Given the description of an element on the screen output the (x, y) to click on. 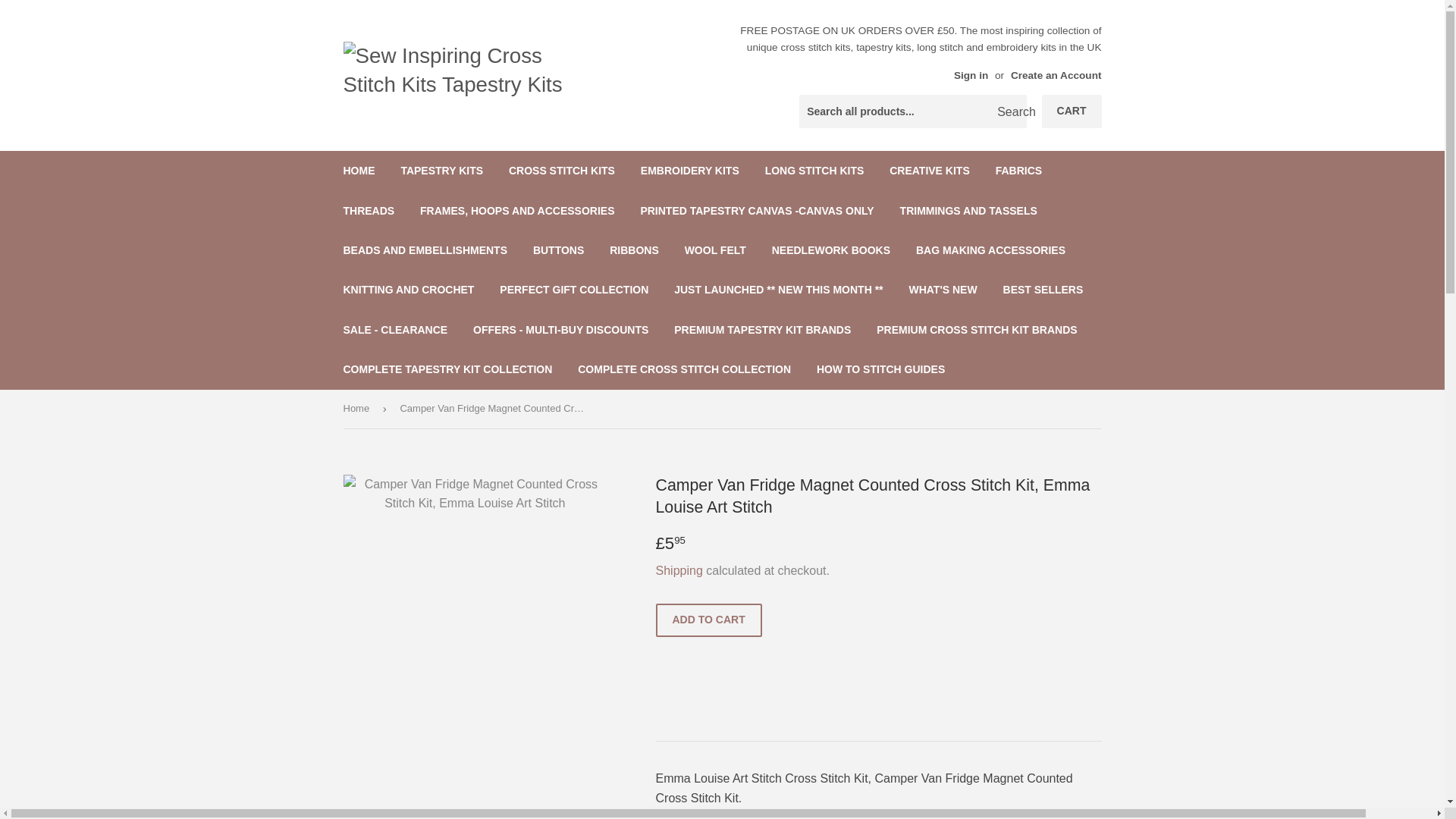
CART (1072, 111)
Search (1009, 111)
Sign in (970, 75)
Create an Account (1056, 75)
